Given the description of an element on the screen output the (x, y) to click on. 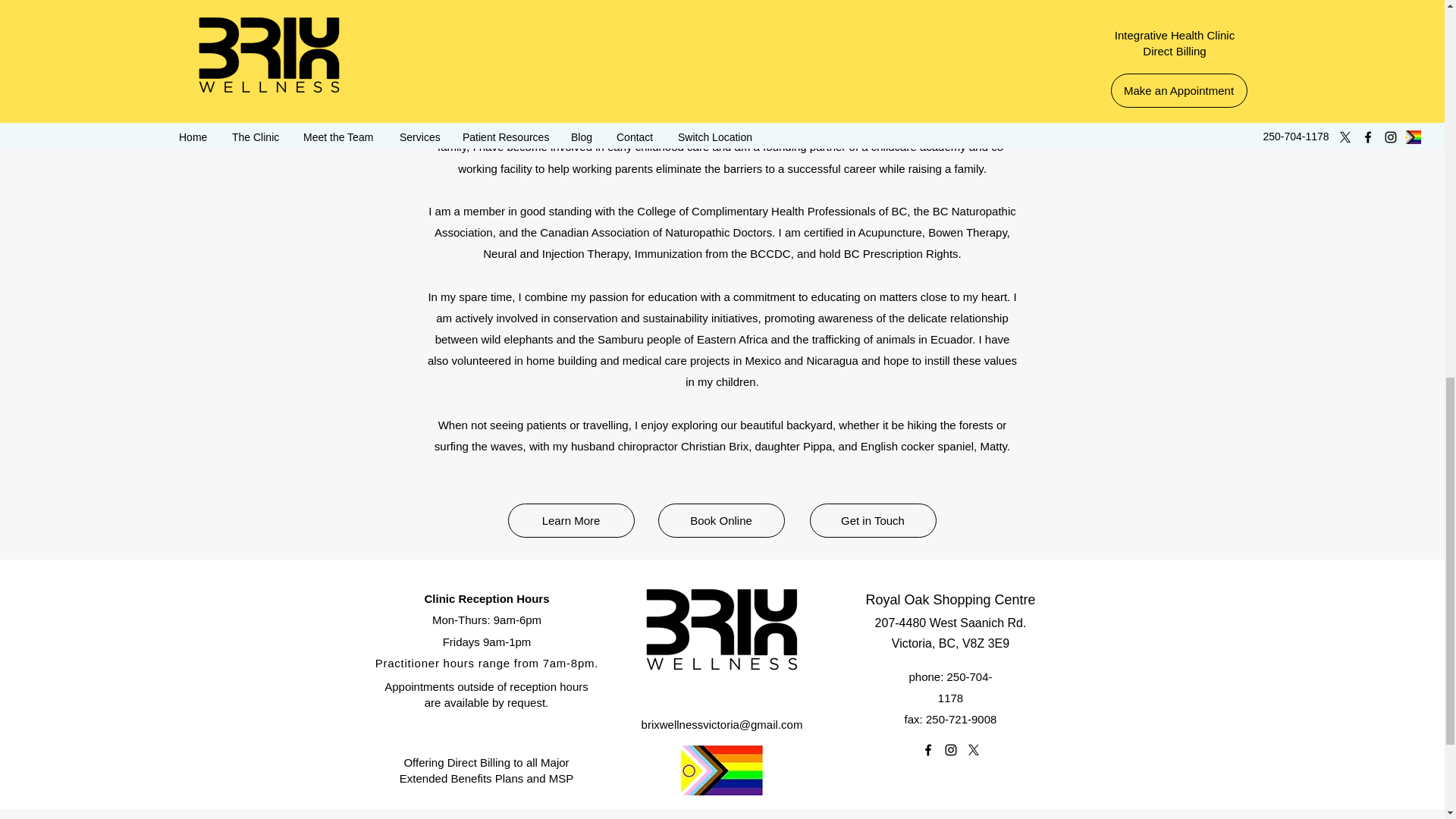
207-4480 West Saanich Rd. (950, 622)
Book Online (721, 520)
progress-pride-2021.jpg (721, 770)
phone: 250-704-1178 (949, 687)
Get in Touch (872, 520)
Victoria, BC, V8Z 3E9 (950, 643)
Royal Oak Shopping Centre (949, 599)
Learn More (571, 520)
